Given the description of an element on the screen output the (x, y) to click on. 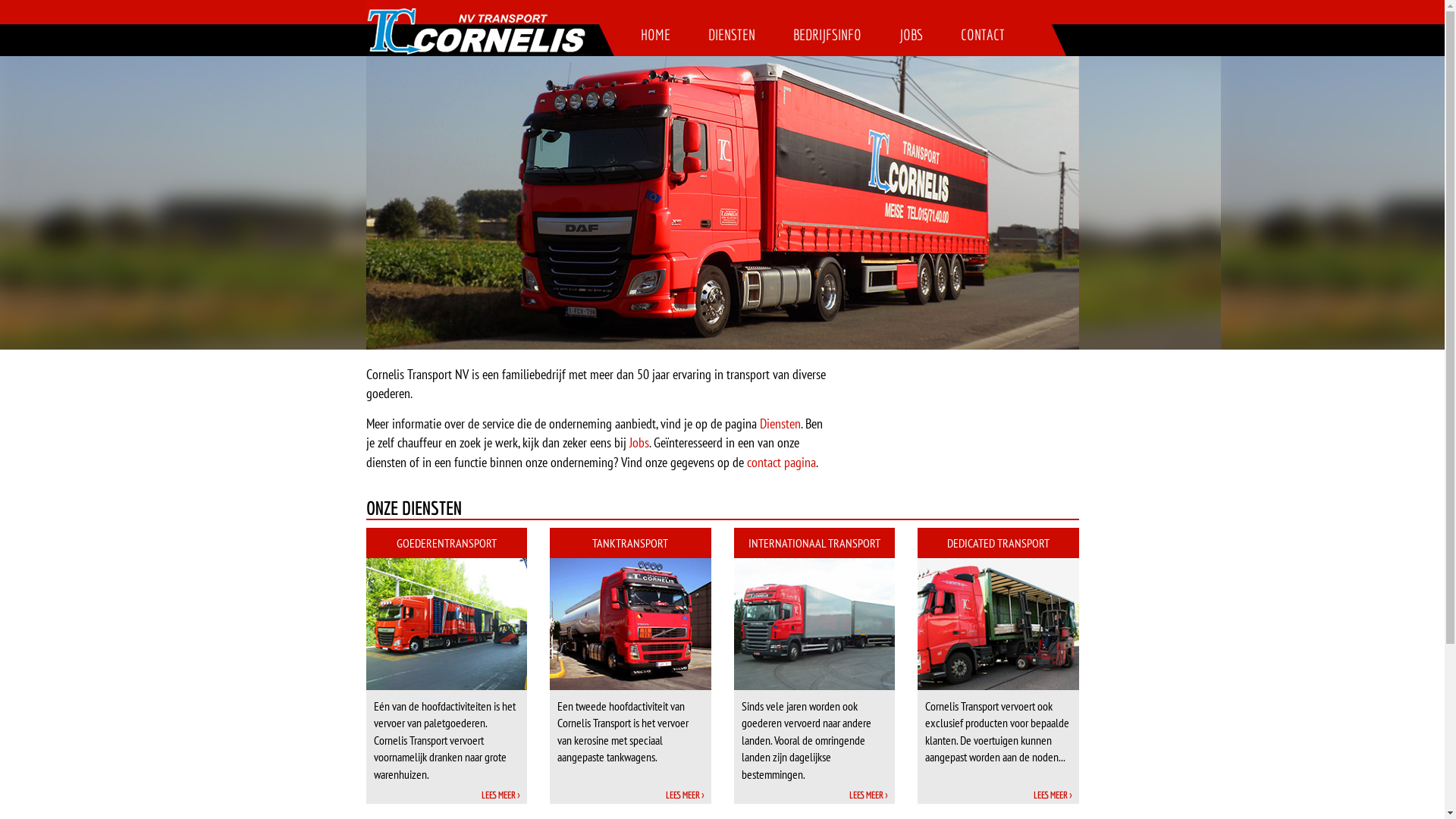
HOME Element type: text (655, 34)
TANKTRANSPORT Element type: text (630, 542)
DIENSTEN Element type: text (730, 34)
GOEDERENTRANSPORT Element type: text (446, 542)
LEES MEER > Element type: text (500, 795)
LEES MEER > Element type: text (868, 795)
contact pagina Element type: text (780, 461)
CONTACT Element type: text (982, 34)
DEDICATED TRANSPORT Element type: text (998, 542)
LEES MEER > Element type: text (1051, 795)
LEES MEER > Element type: text (684, 795)
INTERNATIONAAL TRANSPORT Element type: text (814, 542)
JOBS Element type: text (910, 34)
Diensten Element type: text (779, 423)
Jobs Element type: text (639, 442)
BEDRIJFSINFO Element type: text (826, 34)
